Given the description of an element on the screen output the (x, y) to click on. 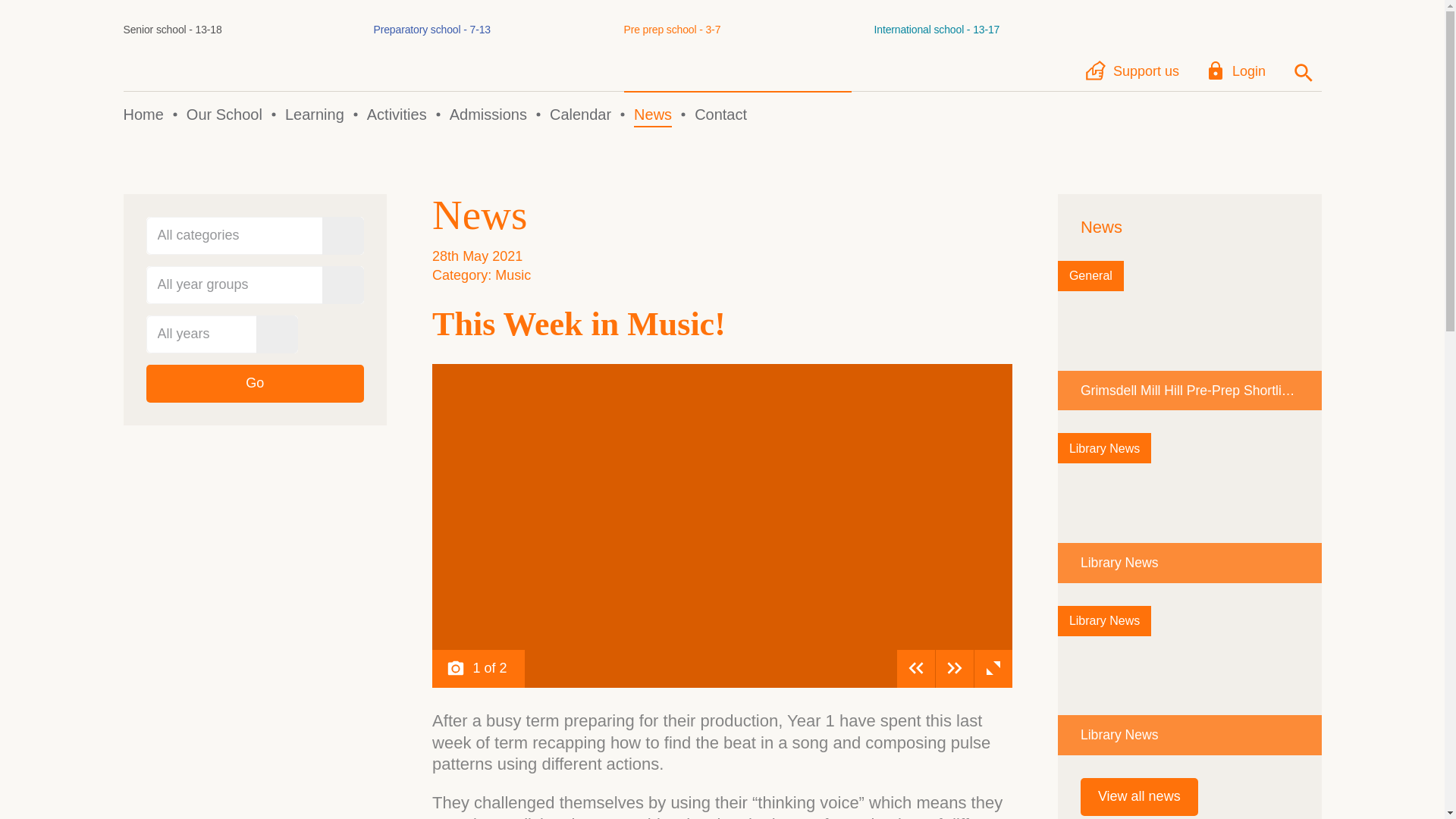
Support us (1134, 71)
Calendar (580, 114)
Activities (236, 50)
Admissions (396, 114)
Library News (488, 114)
Login (1190, 507)
Library News (736, 50)
News (1237, 71)
General (1190, 680)
View all news (652, 114)
Home (1091, 276)
Go (1139, 796)
Library News (142, 114)
